Given the description of an element on the screen output the (x, y) to click on. 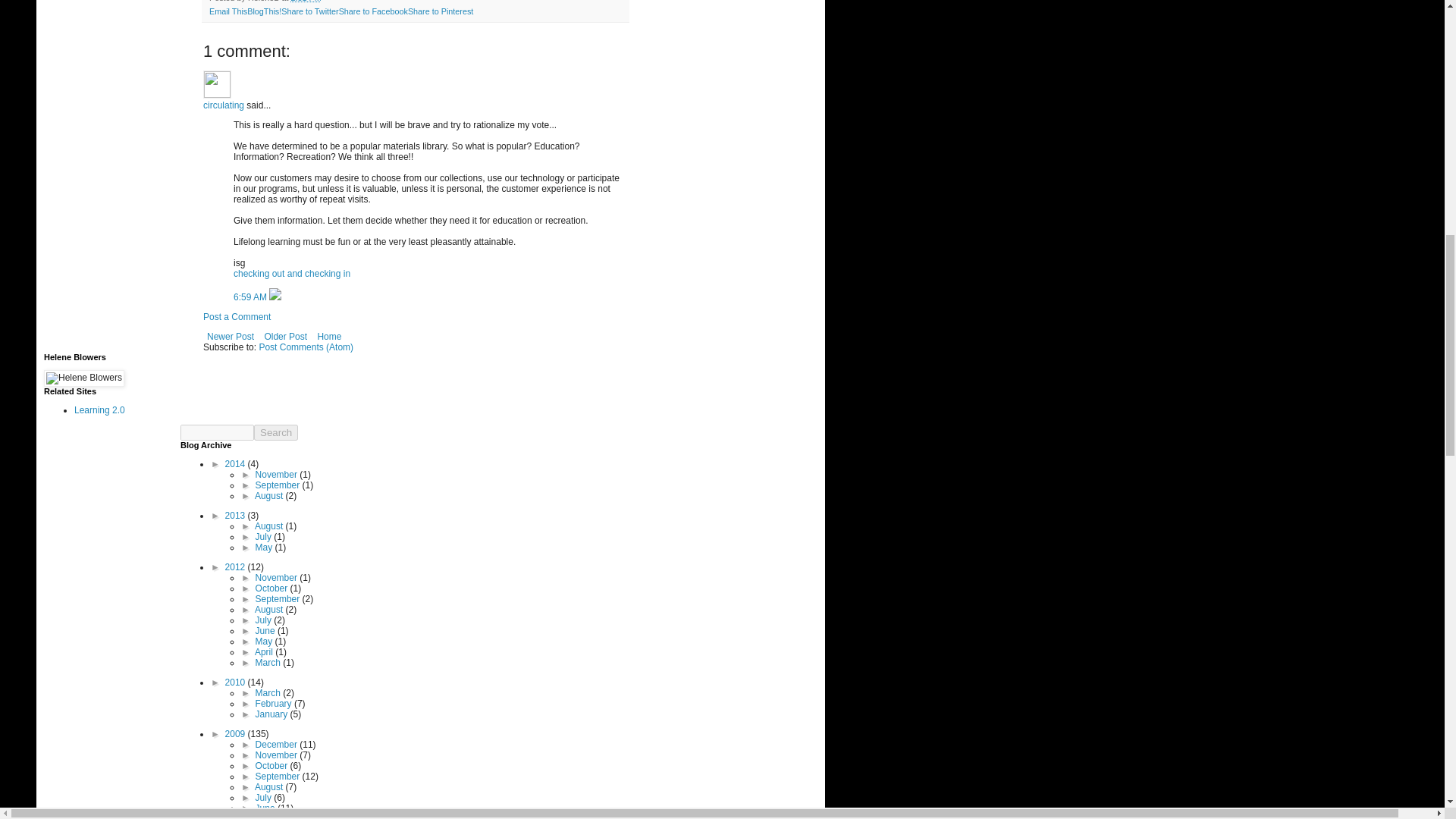
checking out and checking in (291, 273)
Newer Post (230, 336)
2:31 PM (304, 1)
November (277, 474)
August (269, 495)
2013 (236, 515)
Search (275, 432)
Share to Twitter (309, 10)
BlogThis! (264, 10)
September (279, 484)
Delete Comment (275, 296)
circulating (223, 104)
6:59 AM (250, 296)
comment permalink (250, 296)
Learning 2.0 (99, 409)
